Given the description of an element on the screen output the (x, y) to click on. 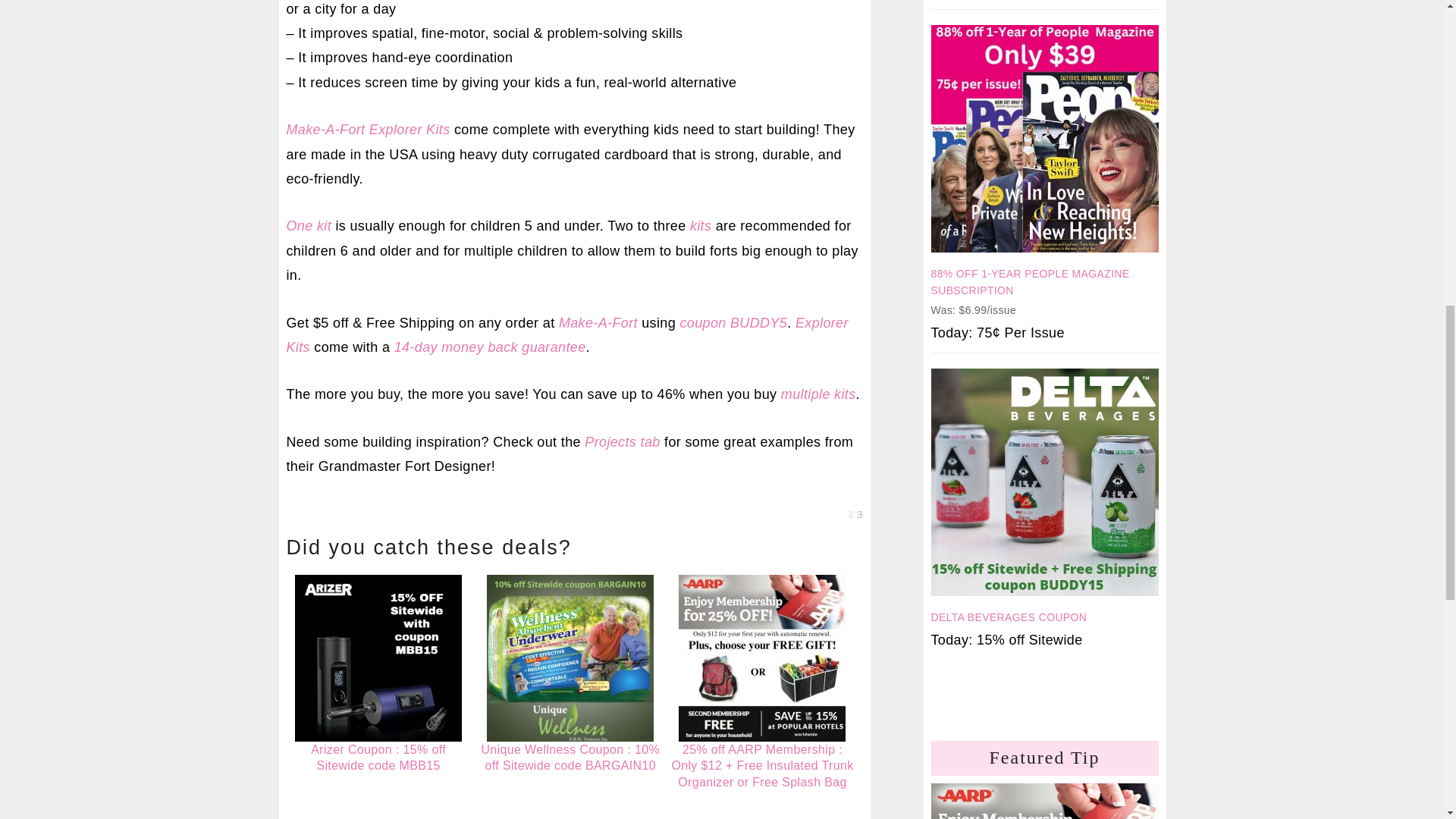
One kit (308, 225)
14-day money back guarantee (490, 346)
kits (700, 225)
AARP Membership Discount (1044, 800)
Explorer Kits (567, 334)
Make-A-Fort (598, 322)
Make-A-Fort Explorer Kits (367, 129)
coupon BUDDY5 (733, 322)
multiple kits (818, 394)
